Given the description of an element on the screen output the (x, y) to click on. 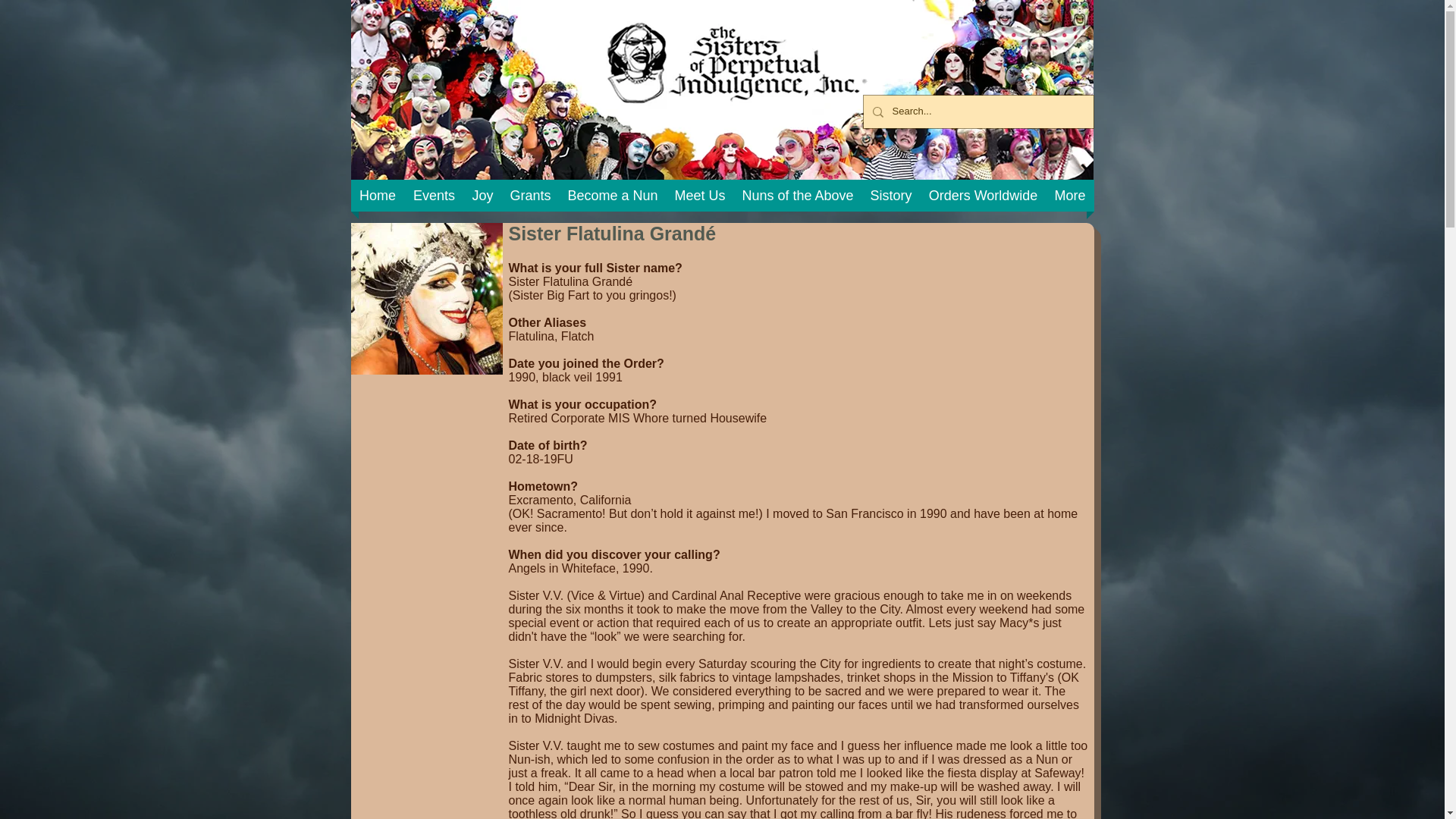
Become a Nun (612, 195)
Events (434, 195)
Nuns of the Above (797, 195)
Sistory (890, 195)
Meet Us (699, 195)
Orders Worldwide (983, 195)
Home (377, 195)
Joy (483, 195)
Grants (530, 195)
